Given the description of an element on the screen output the (x, y) to click on. 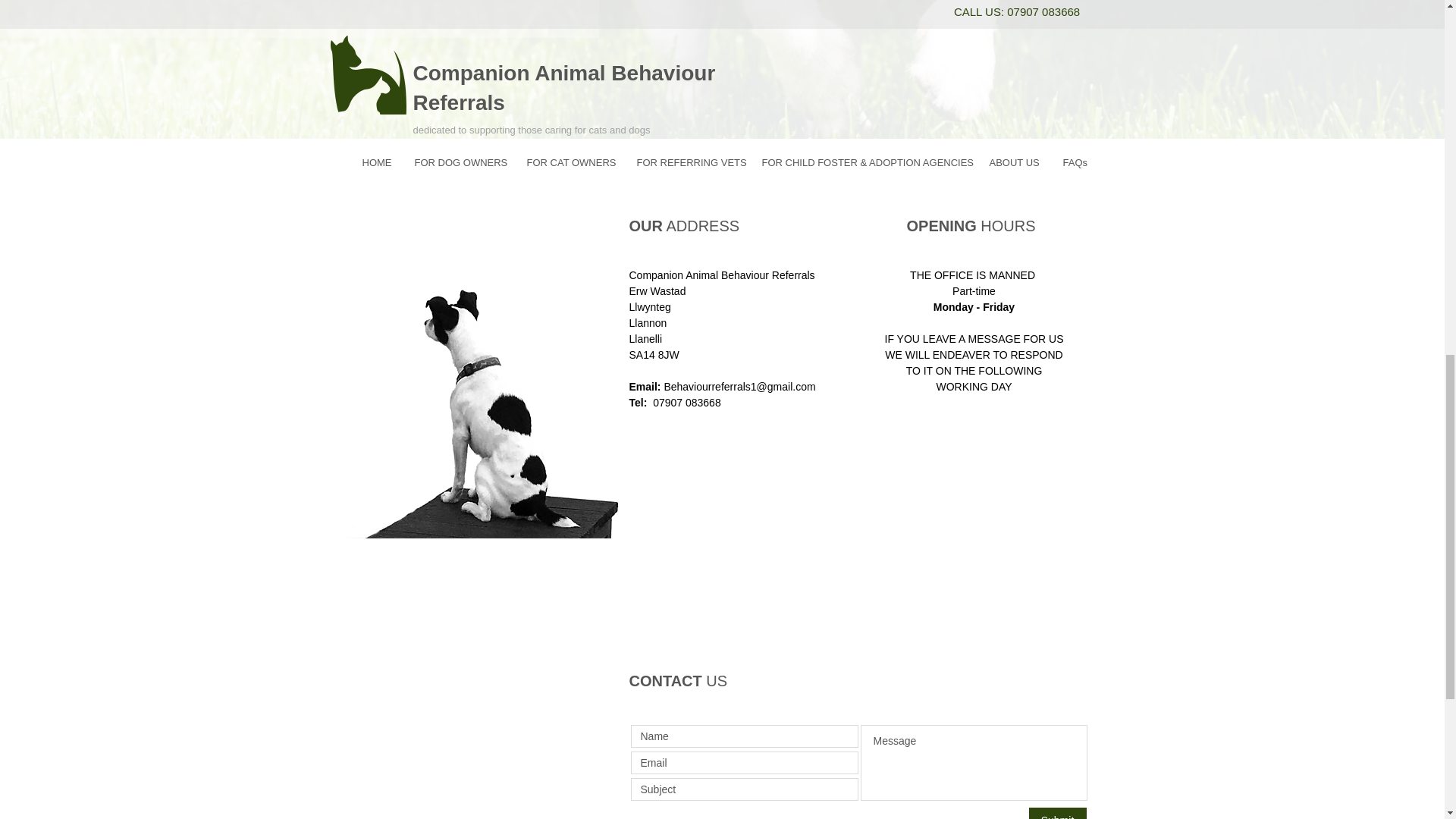
Submit (1056, 813)
